Given the description of an element on the screen output the (x, y) to click on. 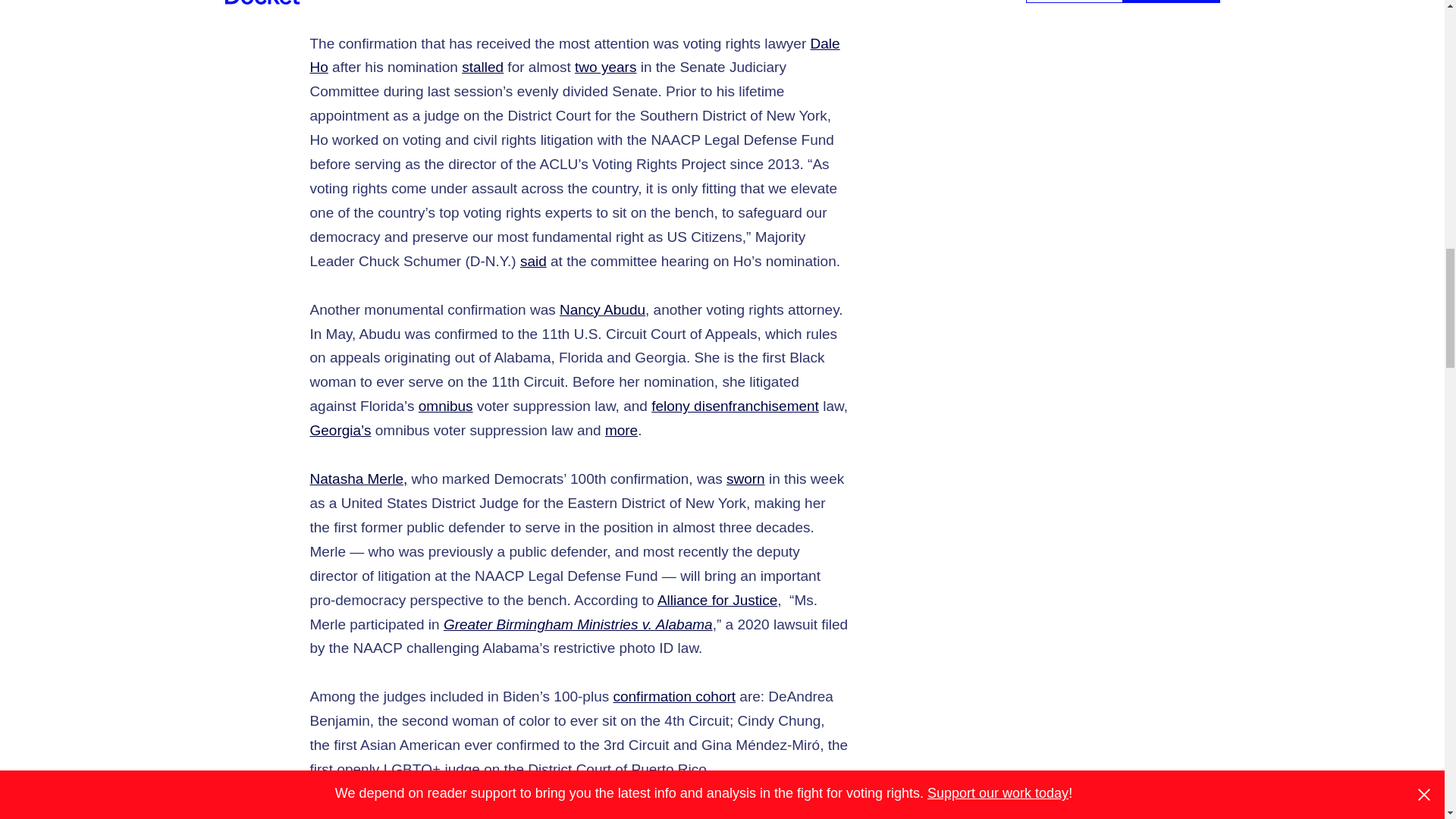
said (533, 261)
stalled (482, 66)
Nancy Abudu (602, 309)
two years (605, 66)
Dale Ho (574, 56)
omnibus (446, 406)
